Given the description of an element on the screen output the (x, y) to click on. 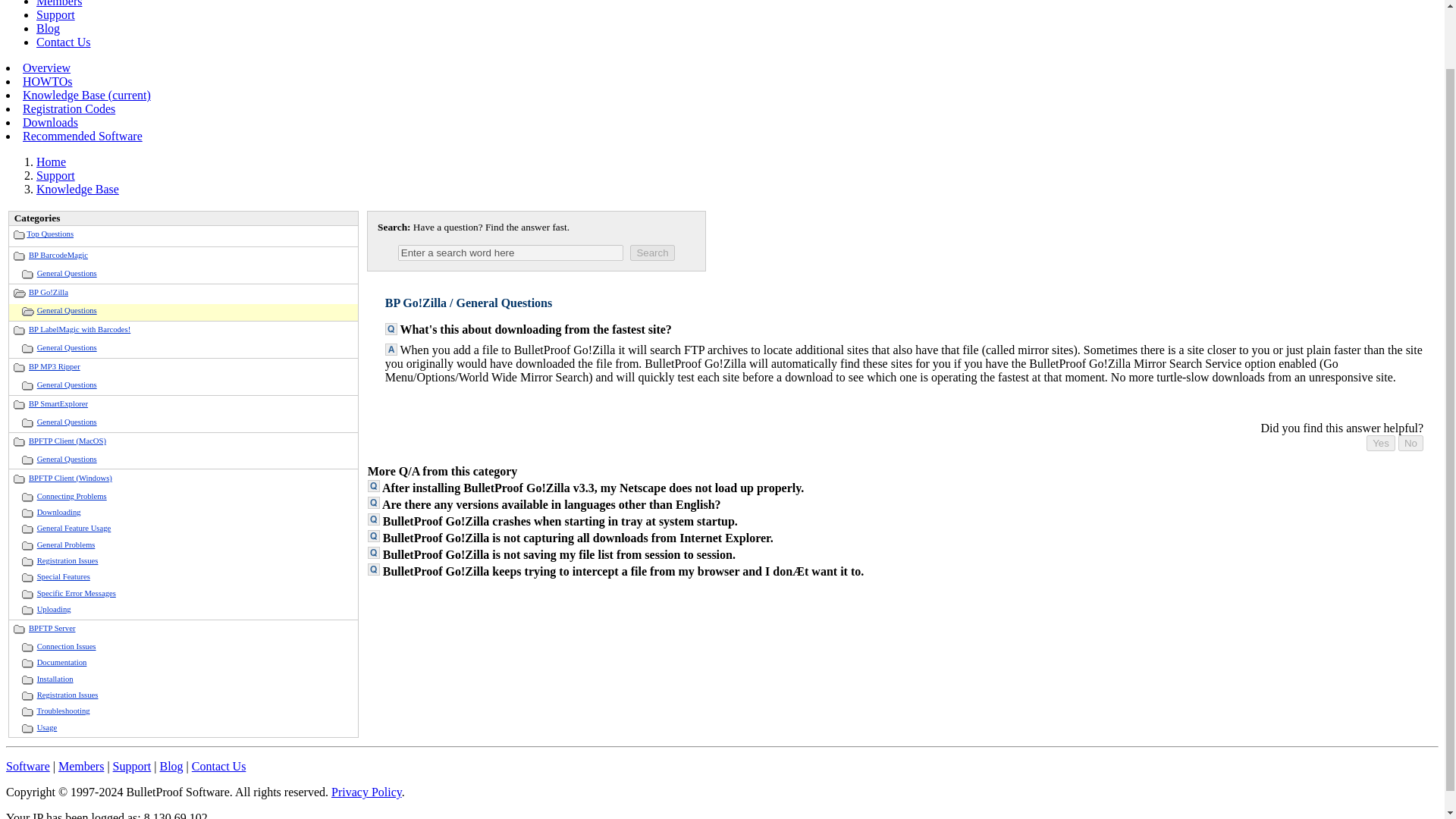
General Questions (67, 273)
HOWTOs (47, 81)
BPFTP Server (52, 628)
Support (55, 174)
Recommended Software (82, 135)
BP MP3 Ripper (54, 366)
Registration Issues (68, 560)
Yes (1380, 442)
BP LabelMagic with Barcodes! (80, 329)
General Questions (67, 384)
Search (652, 252)
General Questions (67, 421)
Blog (47, 28)
No (1410, 442)
Support (55, 14)
